Given the description of an element on the screen output the (x, y) to click on. 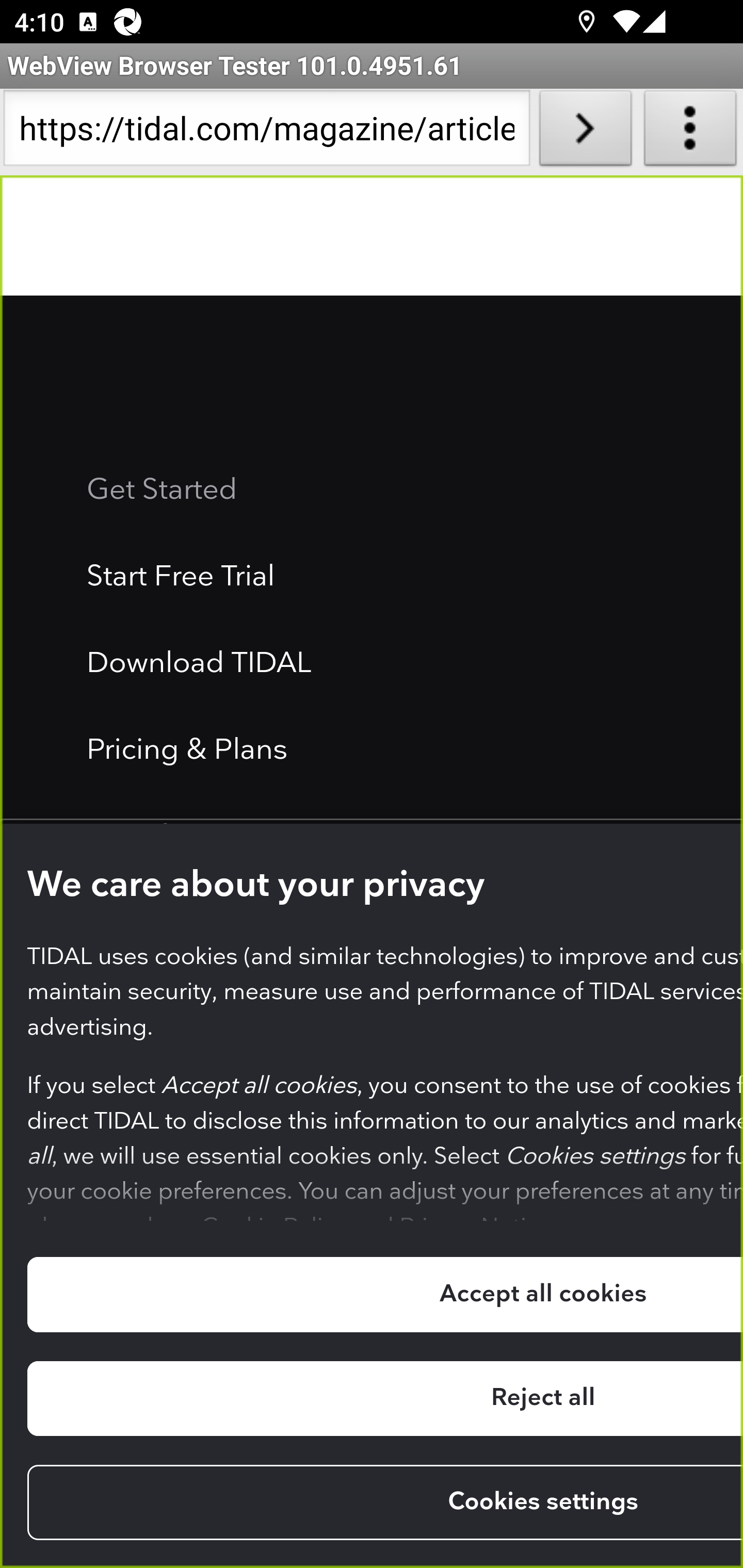
Load URL (585, 132)
About WebView (690, 132)
Start Free Trial (181, 578)
Download TIDAL (199, 665)
Pricing & Plans (187, 751)
Cookie Policy (272, 1218)
Accept all cookies (384, 1294)
Reject all (384, 1400)
Cookies settings (384, 1503)
